Given the description of an element on the screen output the (x, y) to click on. 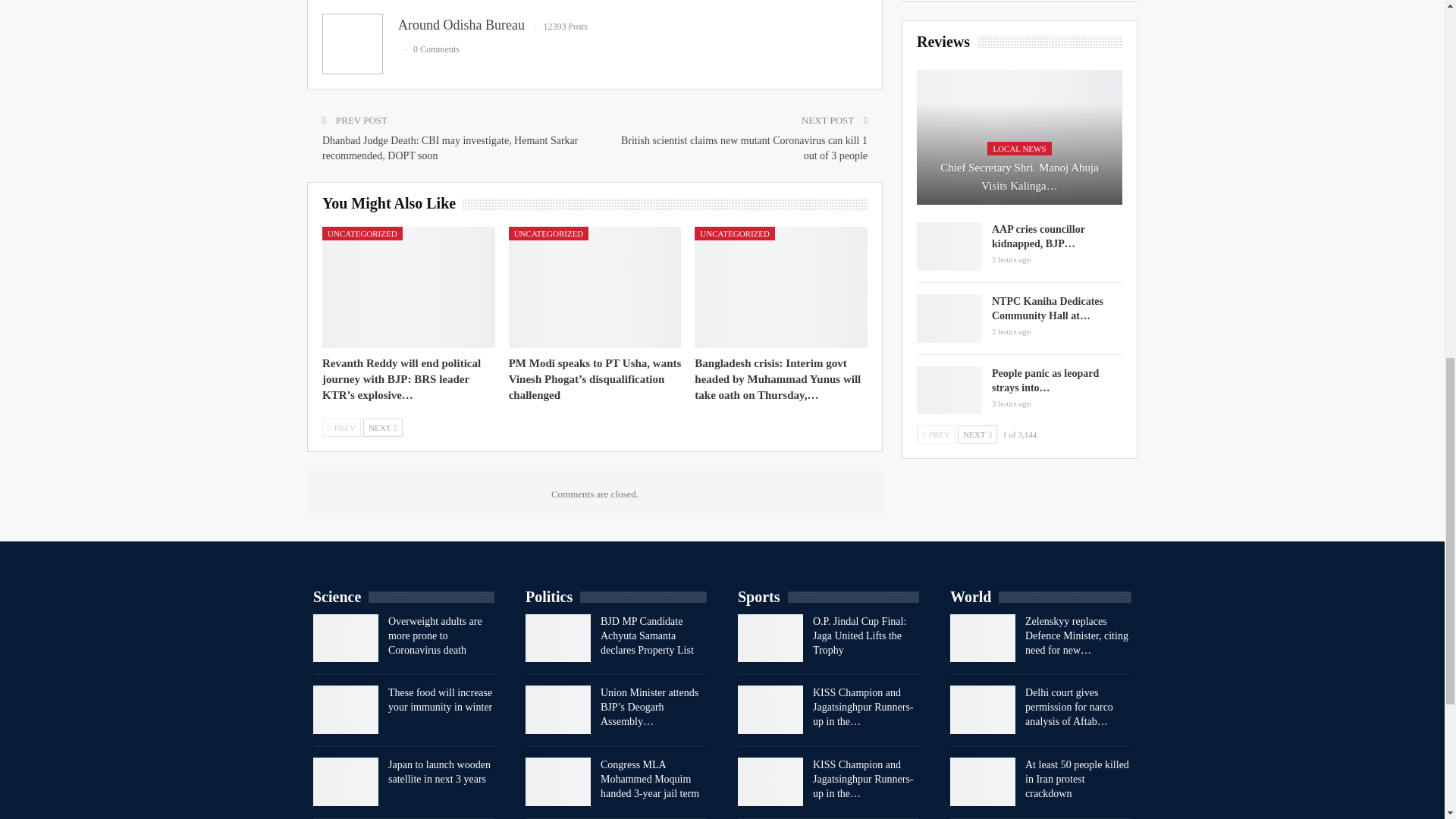
Around Odisha Bureau (460, 24)
UNCATEGORIZED (362, 233)
Next (382, 427)
You Might Also Like (392, 204)
Previous (341, 427)
